Given the description of an element on the screen output the (x, y) to click on. 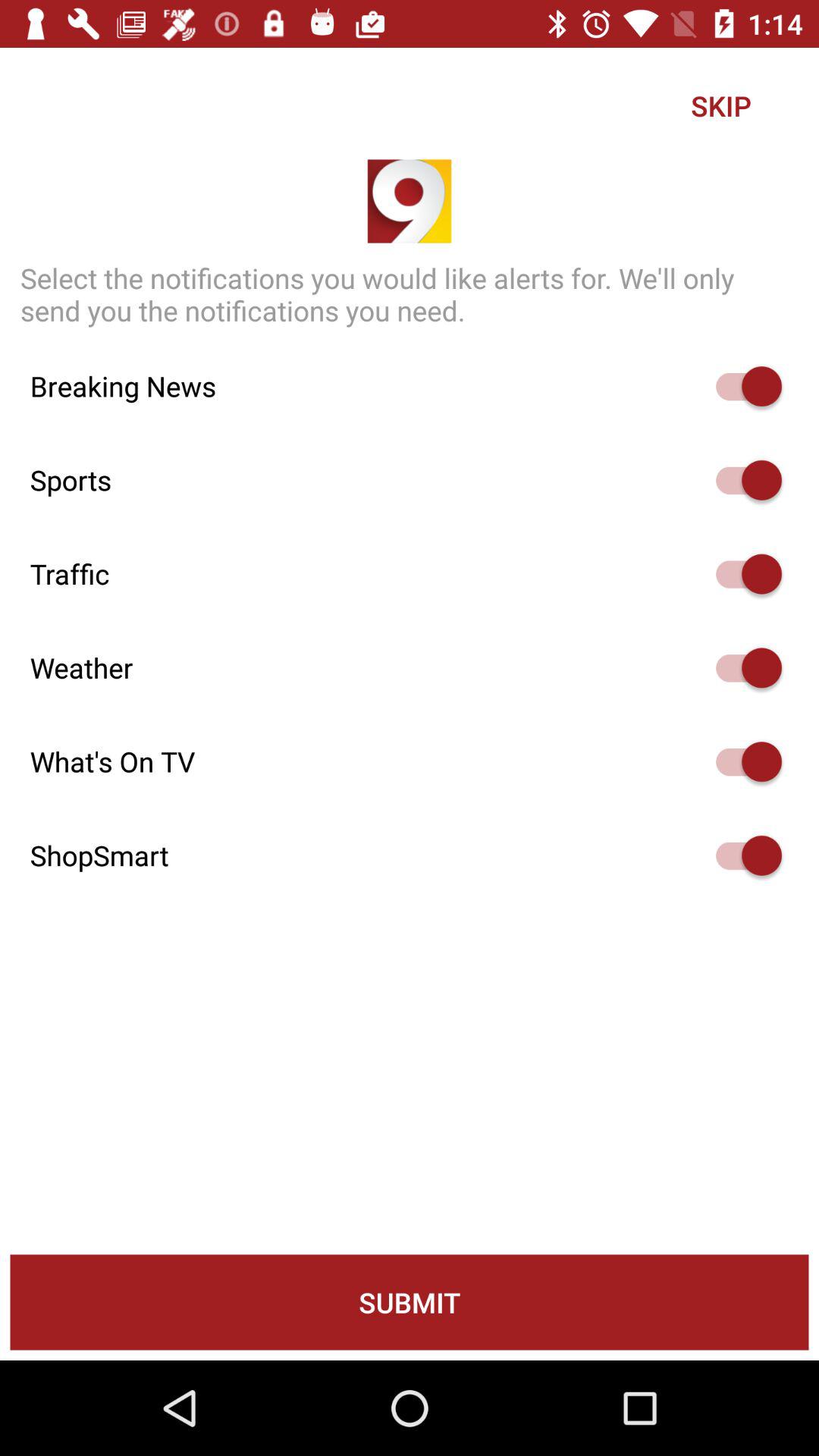
toggle weather (741, 667)
